Given the description of an element on the screen output the (x, y) to click on. 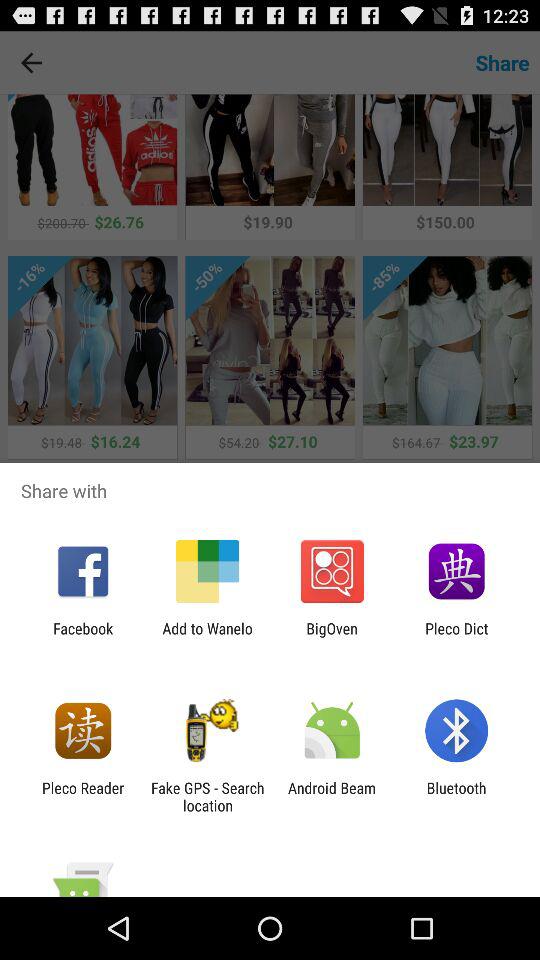
tap add to wanelo item (207, 637)
